Given the description of an element on the screen output the (x, y) to click on. 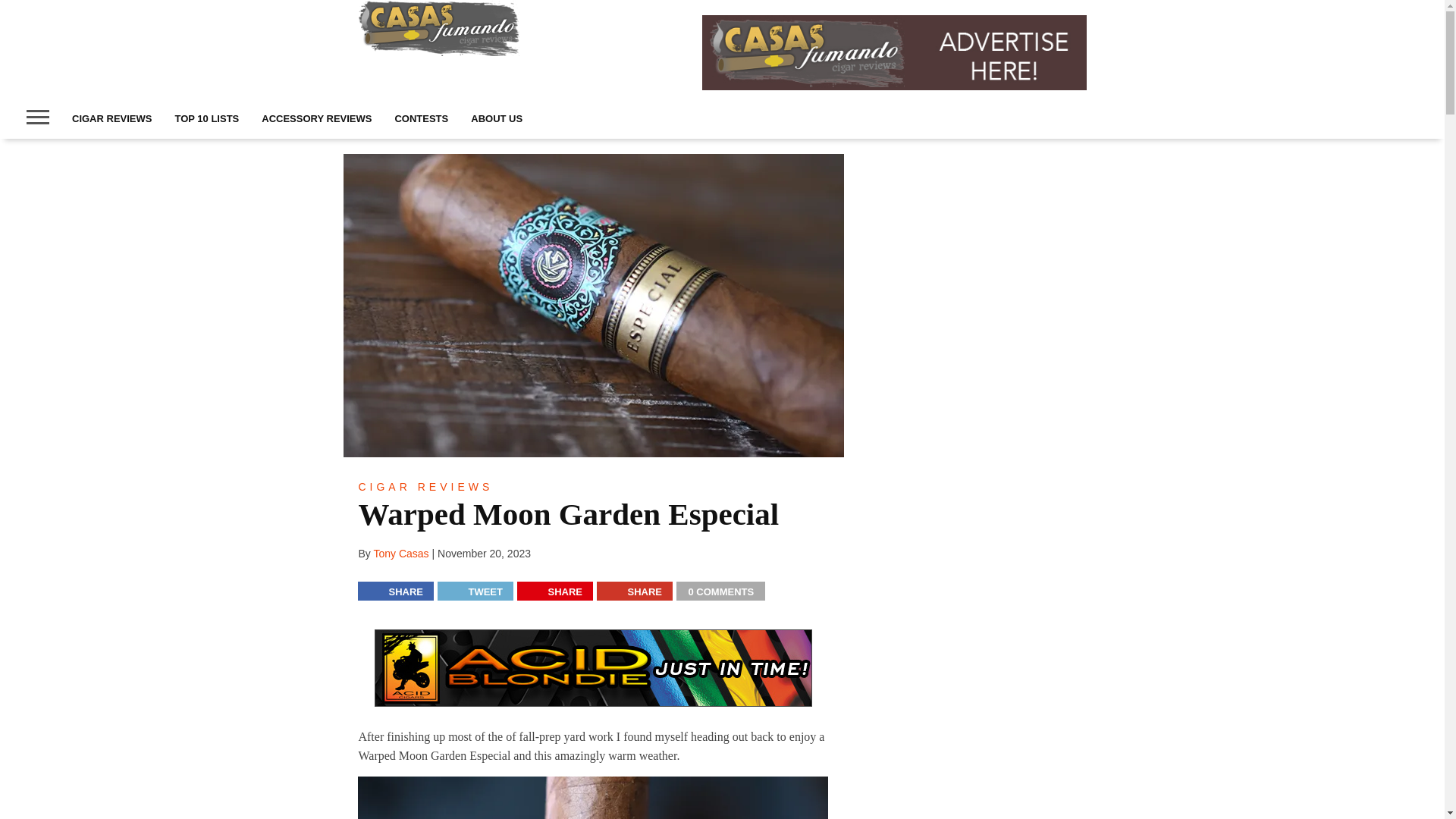
Posts by Tony Casas (400, 553)
Drew Estate - ACID Blondie - Just In Time! (593, 706)
ABOUT US (497, 117)
CONTESTS (421, 117)
Tony Casas (400, 553)
ACCESSORY REVIEWS (316, 117)
CIGAR REVIEWS (112, 117)
Drew Estate - ACID Blondie - Just In Time! (593, 667)
TOP 10 LISTS (206, 117)
